Given the description of an element on the screen output the (x, y) to click on. 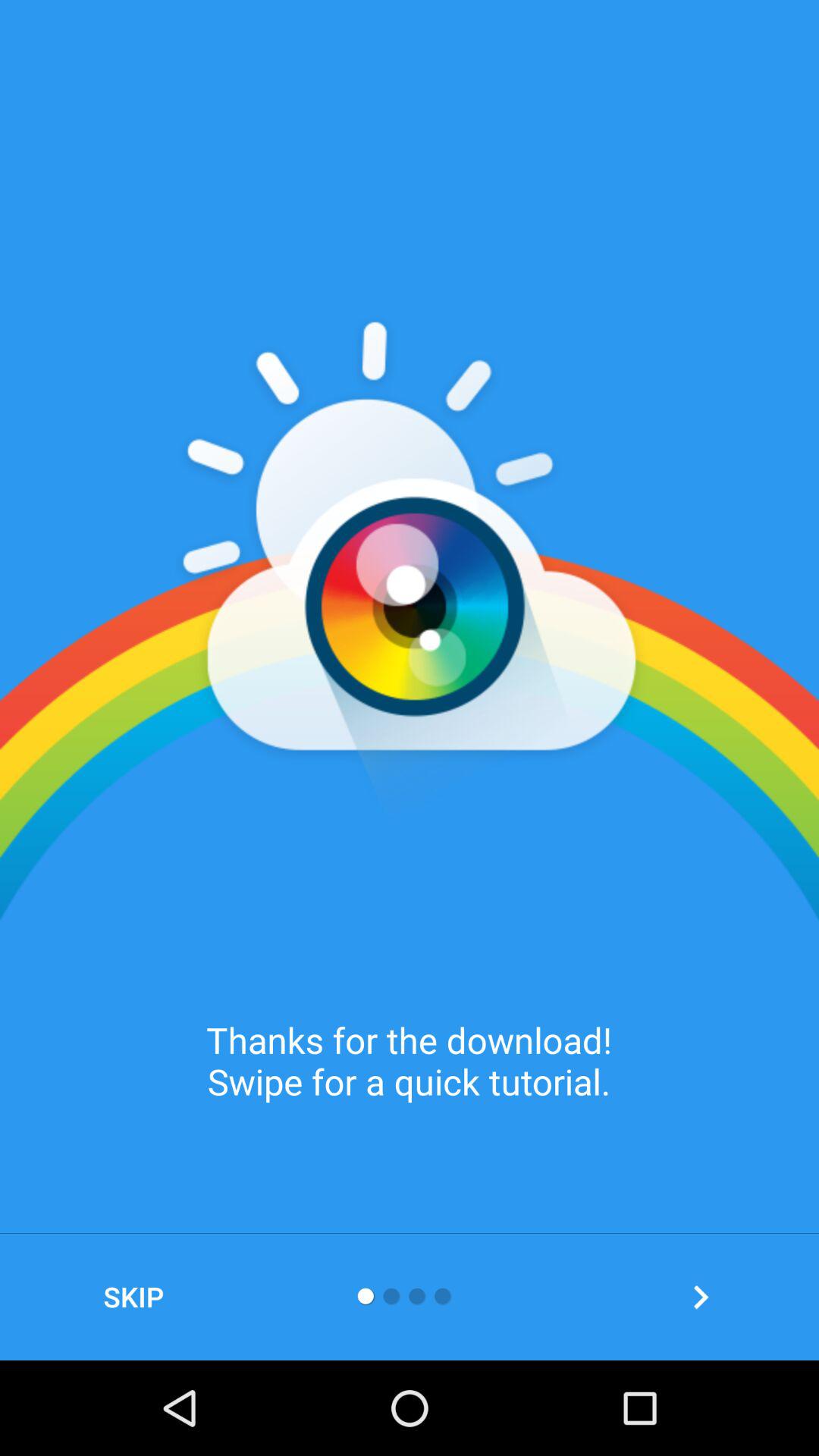
next page (700, 1296)
